Given the description of an element on the screen output the (x, y) to click on. 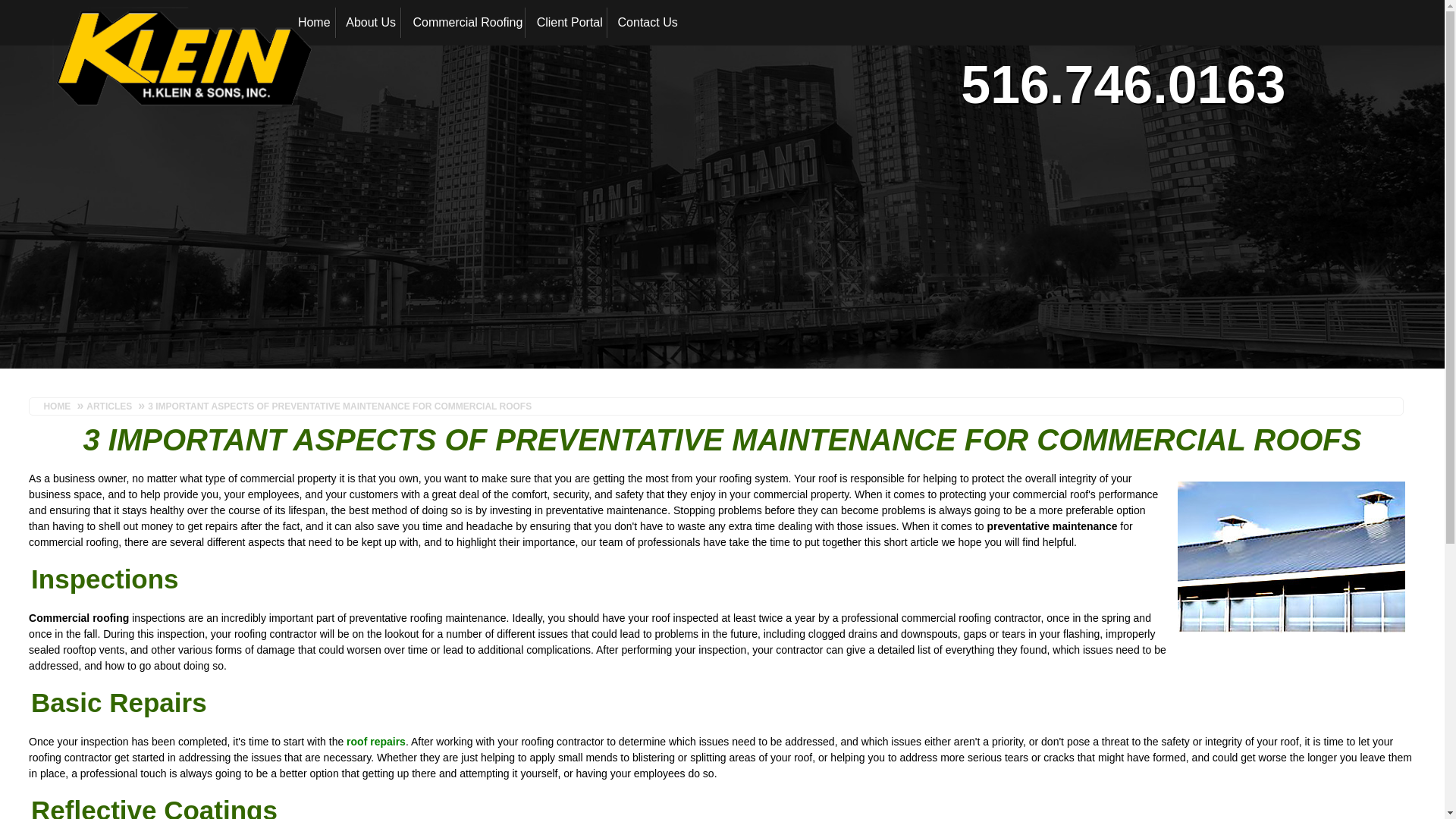
roof repairs (376, 741)
Commercial Roofing (463, 22)
HOME (60, 406)
Client Portal (567, 22)
ARTICLES (107, 406)
About Us (367, 22)
Home (311, 22)
Contact Us (645, 22)
